Given the description of an element on the screen output the (x, y) to click on. 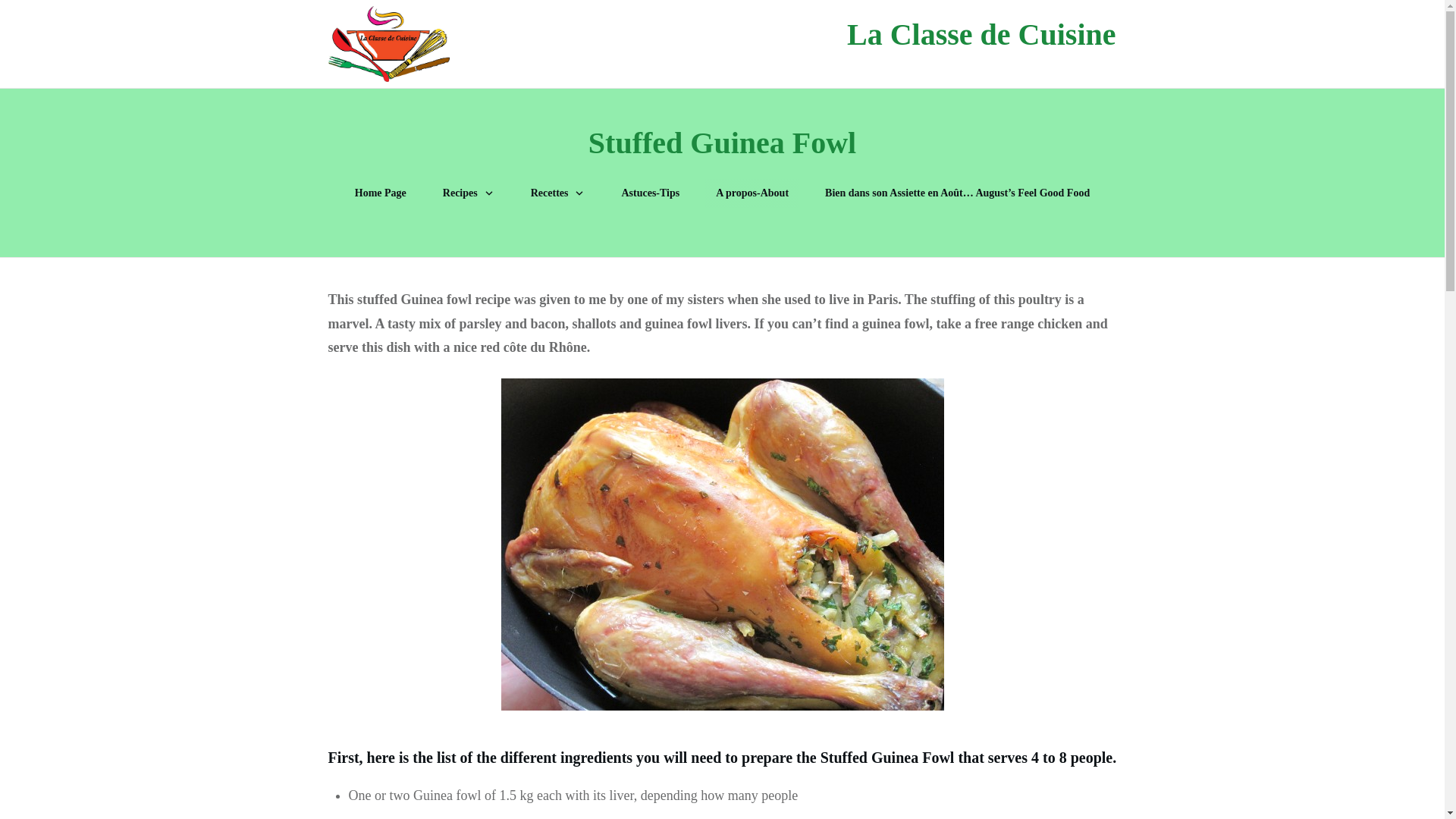
A propos-About (752, 192)
Astuces-Tips (650, 192)
Recettes (558, 192)
Home Page (380, 192)
Recipes (468, 192)
